Given the description of an element on the screen output the (x, y) to click on. 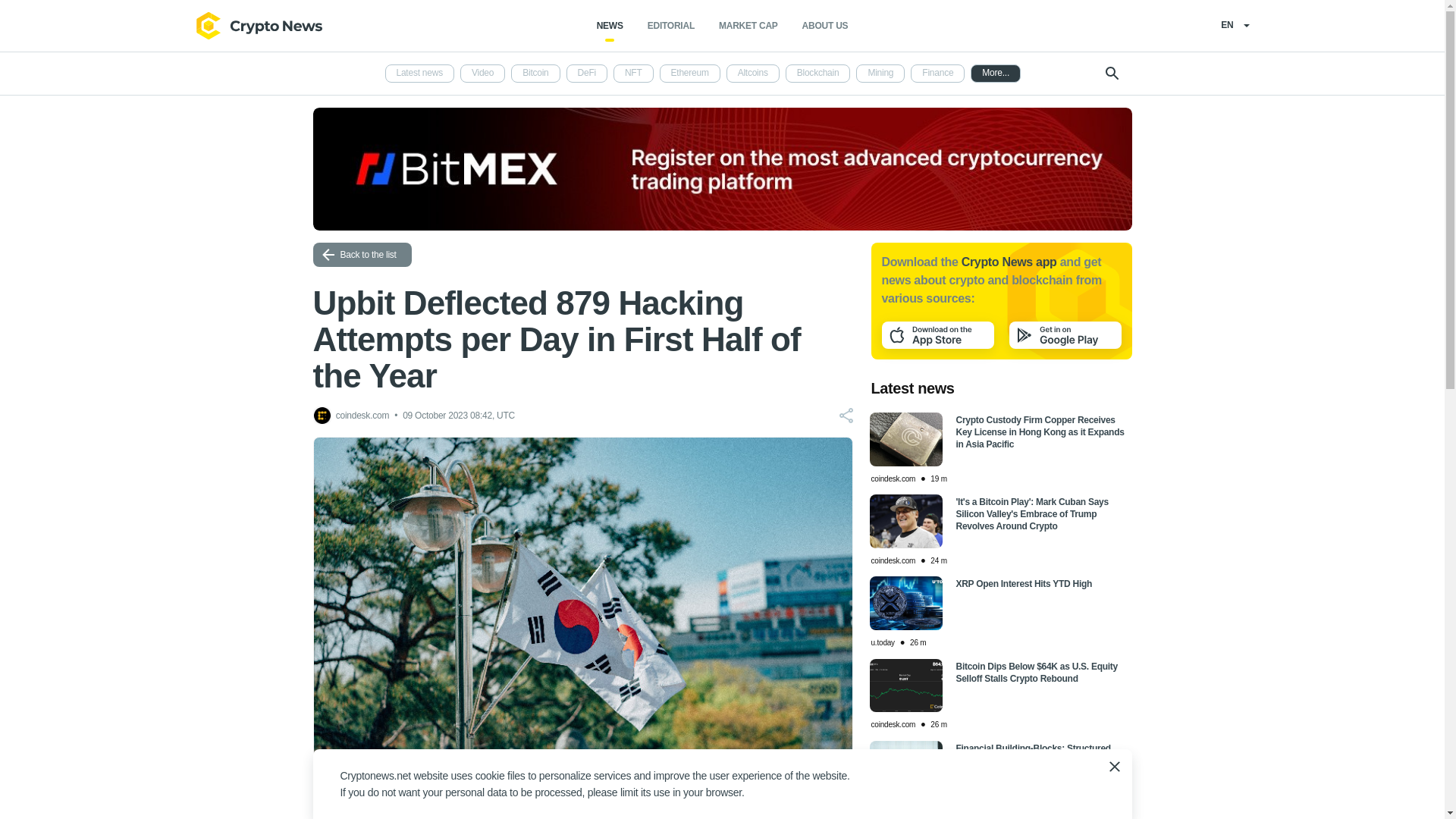
Ethereum (689, 73)
Bitcoin (535, 73)
DeFi (586, 73)
Altcoins (752, 73)
EDITORIAL (670, 25)
Mining (880, 73)
Finance (937, 73)
MARKET CAP (748, 25)
NEWS (609, 25)
Video (482, 73)
Latest news (419, 73)
ABOUT US (825, 25)
Blockchain (818, 73)
NFT (632, 73)
